Given the description of an element on the screen output the (x, y) to click on. 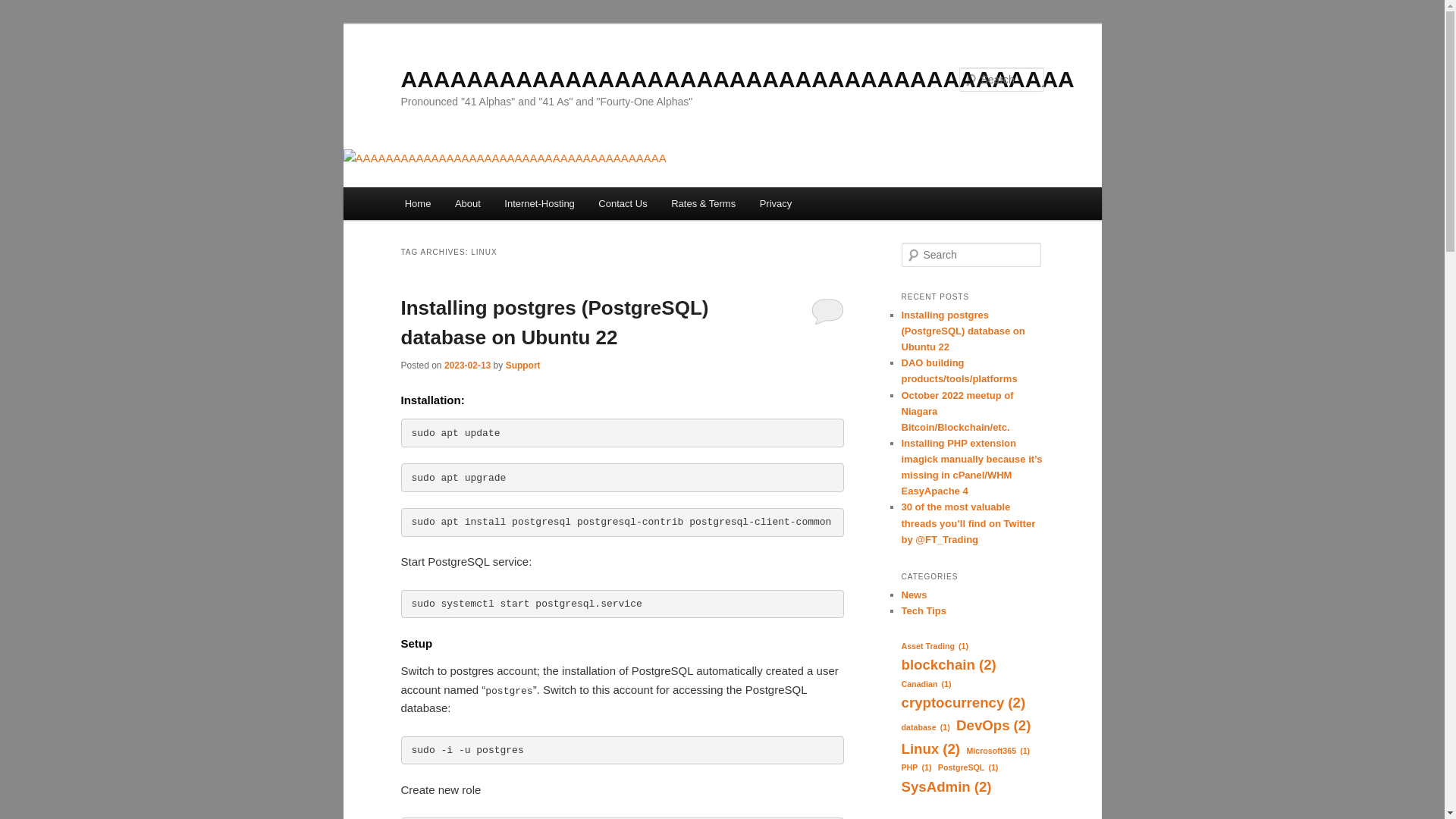
blockchain (2) Element type: text (947, 664)
cryptocurrency (2) Element type: text (962, 702)
Installing postgres (PostgreSQL) database on Ubuntu 22 Element type: text (554, 322)
Support Element type: text (522, 365)
DevOps (2) Element type: text (993, 725)
Canadian (1) Element type: text (925, 683)
Contact Us Element type: text (622, 203)
Installing postgres (PostgreSQL) database on Ubuntu 22 Element type: text (962, 330)
October 2022 meetup of Niagara Bitcoin/Blockchain/etc. Element type: text (956, 411)
Search Element type: text (20, 10)
Skip to primary content Element type: text (22, 22)
About Element type: text (467, 203)
Internet-Hosting Element type: text (539, 203)
database (1) Element type: text (924, 727)
Privacy Element type: text (775, 203)
AAAAAAAAAAAAAAAAAAAAAAAAAAAAAAAAAAAAAAAAA Element type: text (736, 78)
Asset Trading (1) Element type: text (934, 646)
Rates & Terms Element type: text (702, 203)
Search Element type: text (24, 8)
DAO building products/tools/platforms Element type: text (958, 370)
Tech Tips Element type: text (922, 610)
2023-02-13 Element type: text (467, 365)
PHP (1) Element type: text (915, 767)
PostgreSQL (1) Element type: text (968, 767)
Home Element type: text (417, 203)
SysAdmin (2) Element type: text (945, 786)
News Element type: text (913, 594)
Linux (2) Element type: text (930, 748)
Microsoft365 (1) Element type: text (997, 750)
